Given the description of an element on the screen output the (x, y) to click on. 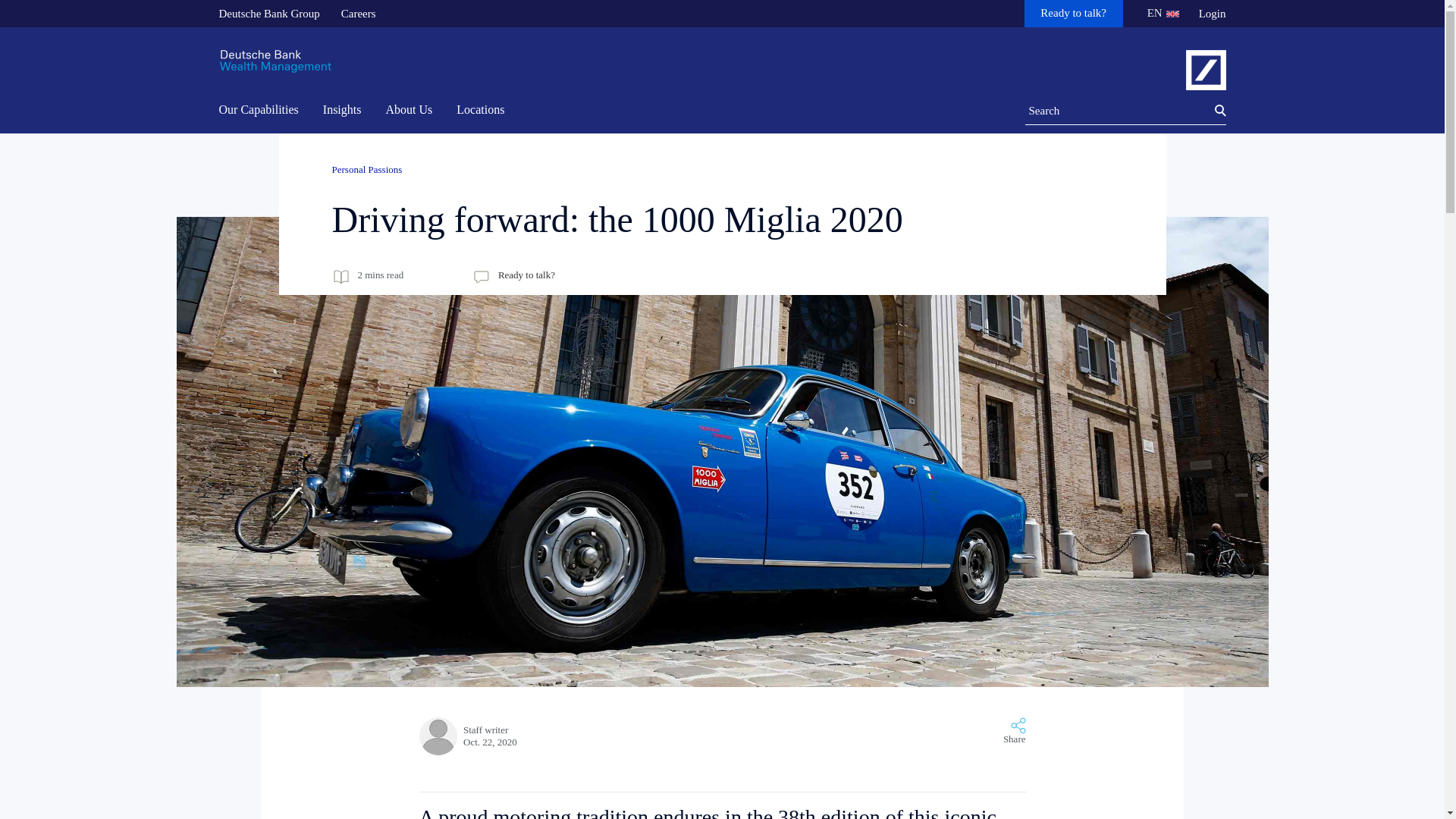
submit (1211, 110)
EN (1159, 13)
Careers (358, 13)
Deutsche Bank Group (269, 13)
Our Capabilities (261, 110)
submit (1211, 110)
Login (1211, 14)
Ready to talk? (1073, 13)
